Given the description of an element on the screen output the (x, y) to click on. 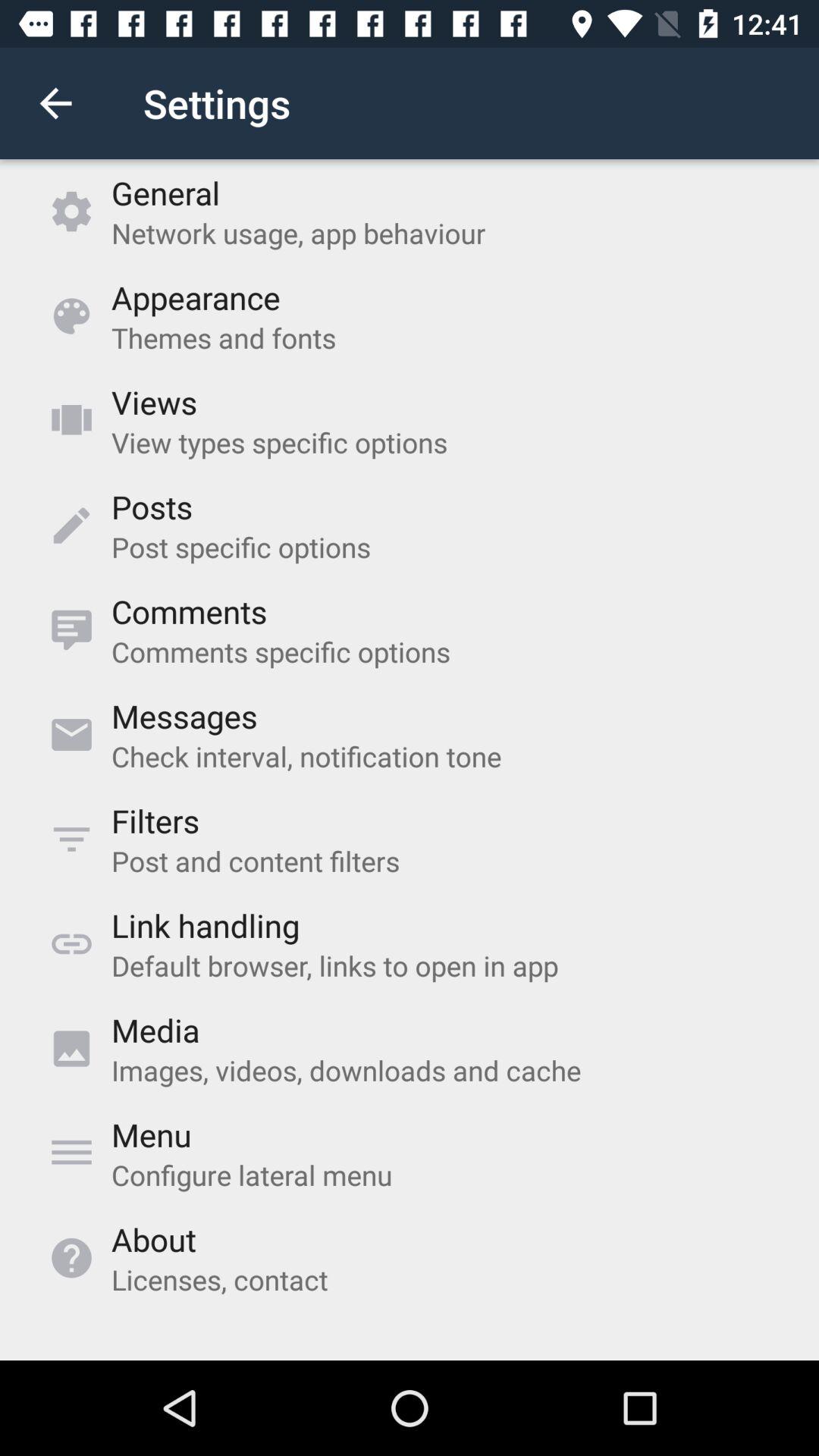
open the view types specific icon (279, 442)
